Given the description of an element on the screen output the (x, y) to click on. 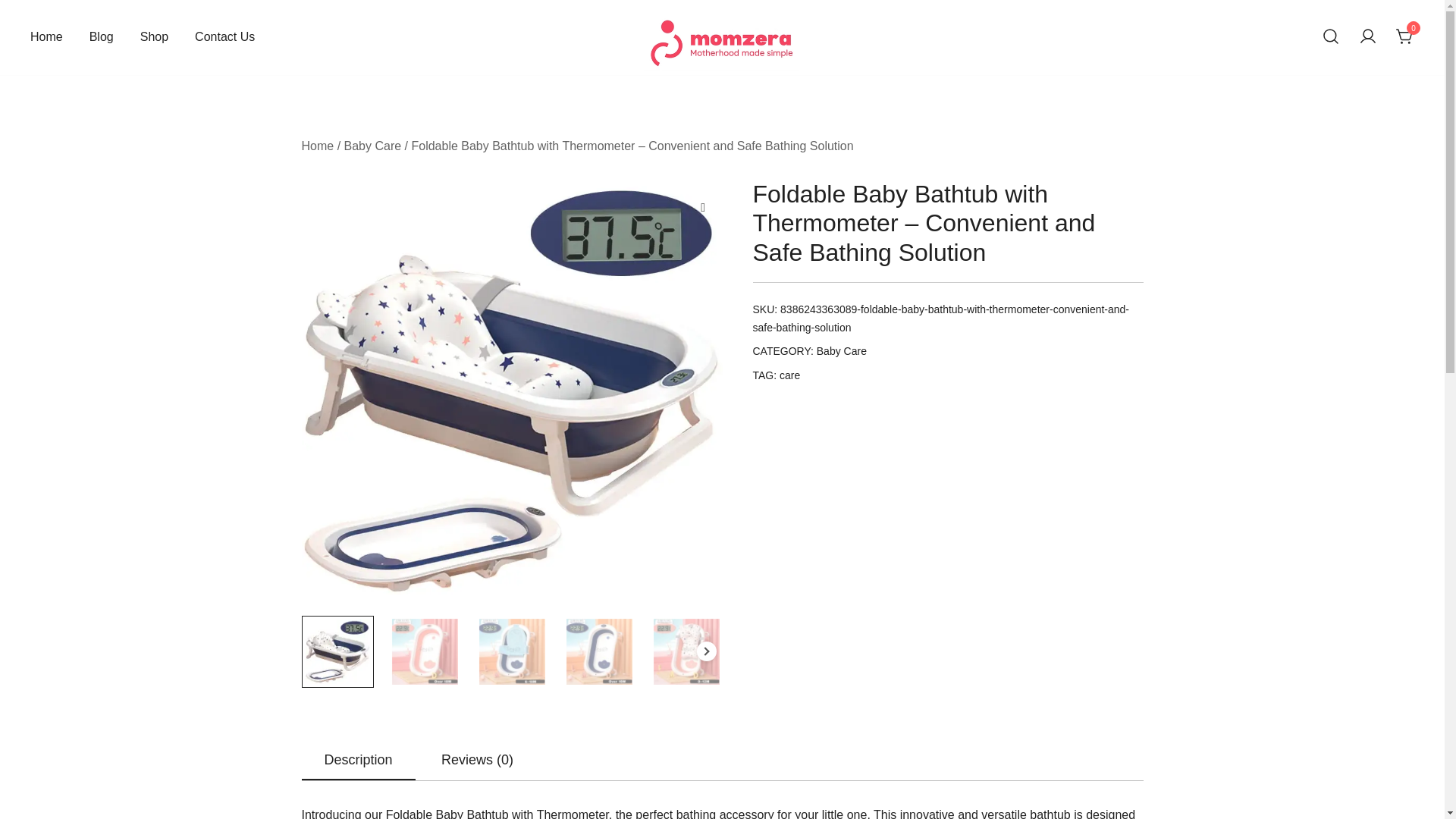
Home (317, 145)
Home (46, 37)
0 (1404, 37)
Contact Us (224, 37)
View your shopping cart (1404, 36)
Baby Care (372, 145)
0 (1404, 36)
